Given the description of an element on the screen output the (x, y) to click on. 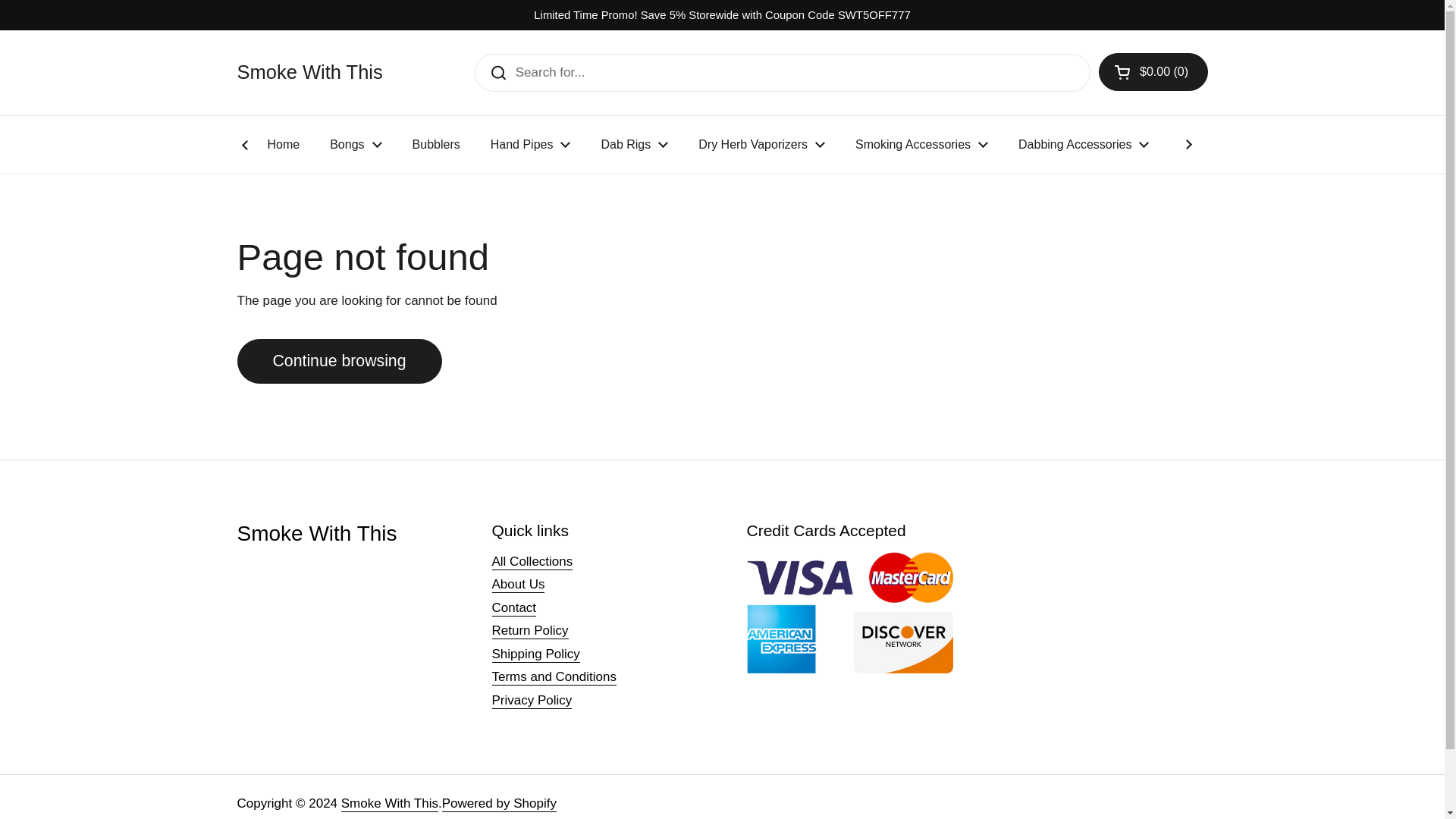
Home (282, 144)
Smoke With This (308, 72)
Hand Pipes (531, 144)
Open cart (1153, 71)
Smoke With This (308, 72)
Bongs (355, 144)
Bubblers (436, 144)
